Given the description of an element on the screen output the (x, y) to click on. 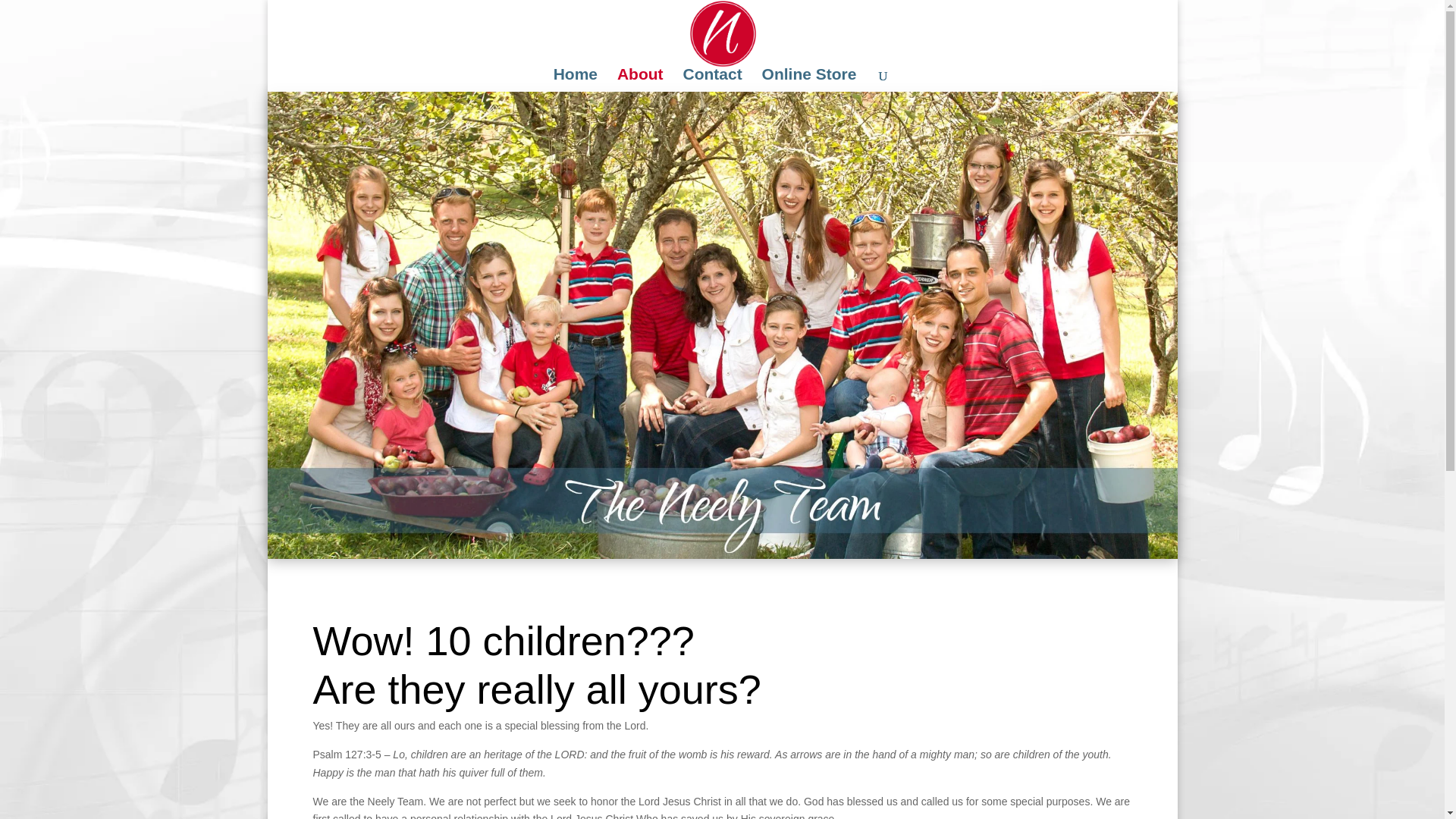
Home (574, 79)
About (640, 79)
Online Store (809, 79)
Contact (711, 79)
